Given the description of an element on the screen output the (x, y) to click on. 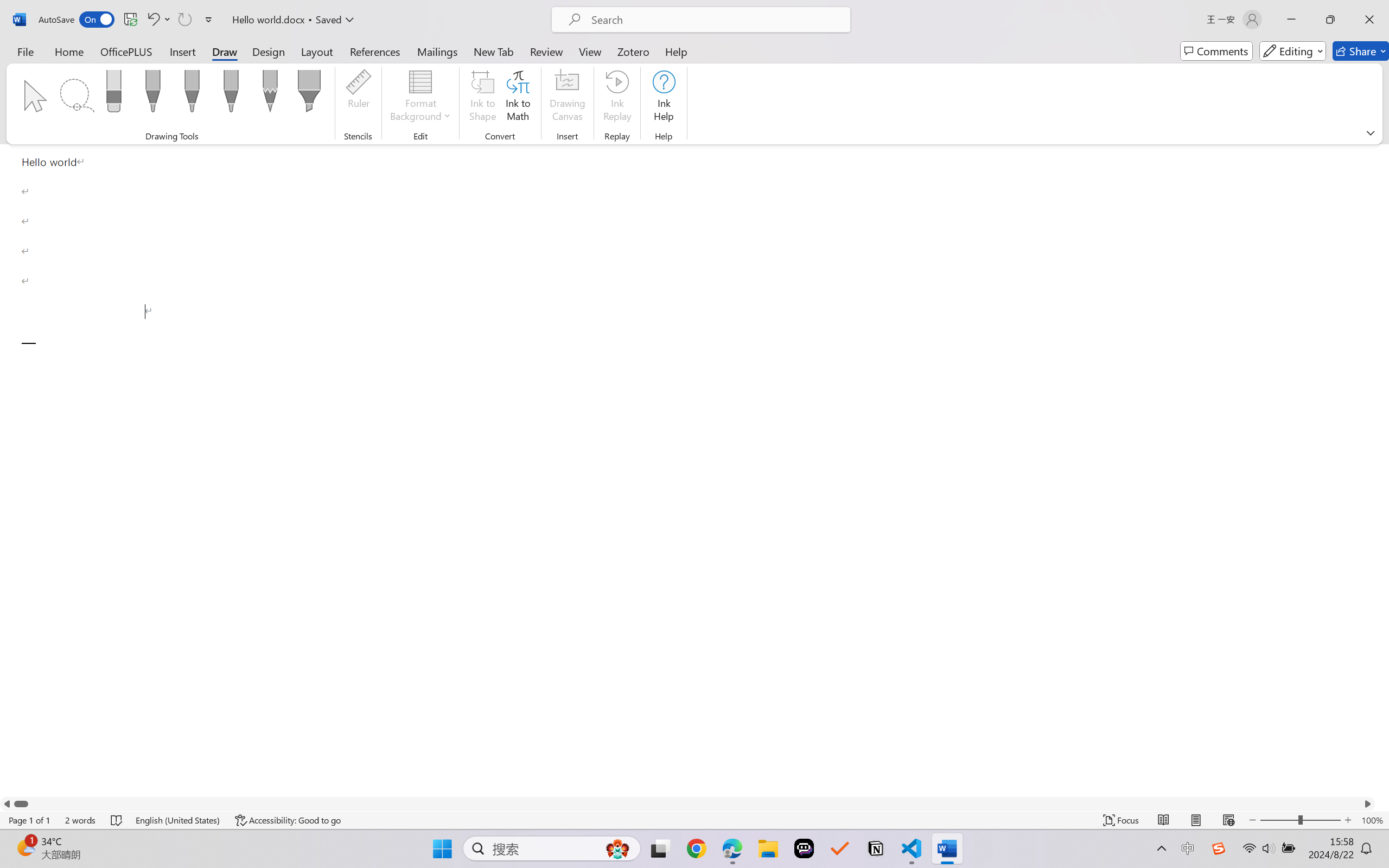
Layout (316, 51)
Ink to Shape (483, 97)
Pen: Black, 0.5 mm (152, 94)
Class: Image (1218, 847)
Highlighter: Yellow, 6 mm (309, 94)
Column left (6, 803)
Read Mode (1163, 819)
Word Count 2 words (80, 819)
Customize Quick Access Toolbar (208, 19)
Zoom Out (1278, 819)
